Given the description of an element on the screen output the (x, y) to click on. 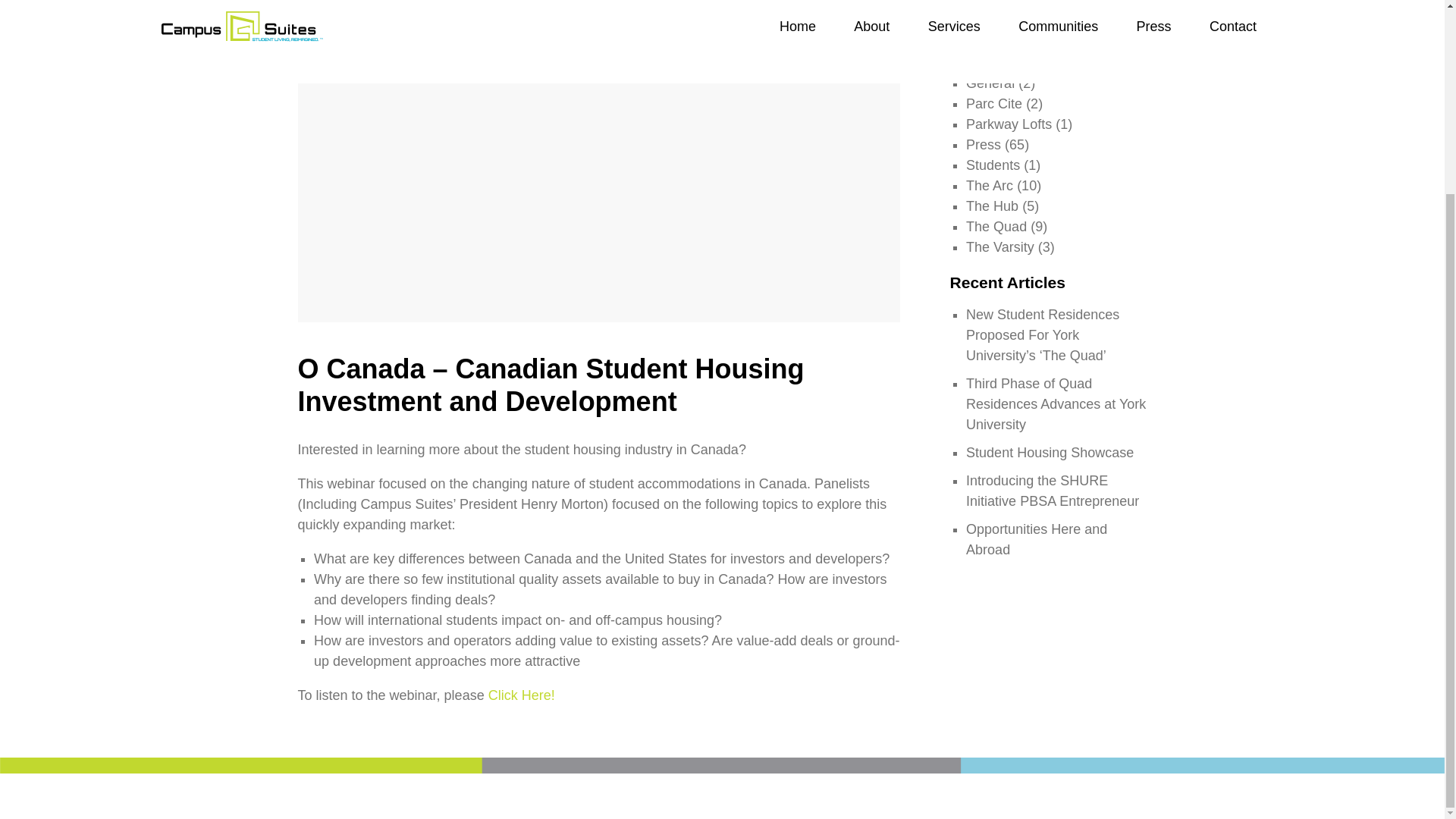
Student Housing Showcase (1050, 452)
The Varsity (999, 246)
The Hub (991, 206)
Opportunities Here and Abroad (1036, 539)
Parc Cite (994, 103)
Press (983, 144)
Third Phase of Quad Residences Advances at York University (1055, 403)
Align (980, 42)
The Arc (989, 185)
Communities (1005, 62)
